Given the description of an element on the screen output the (x, y) to click on. 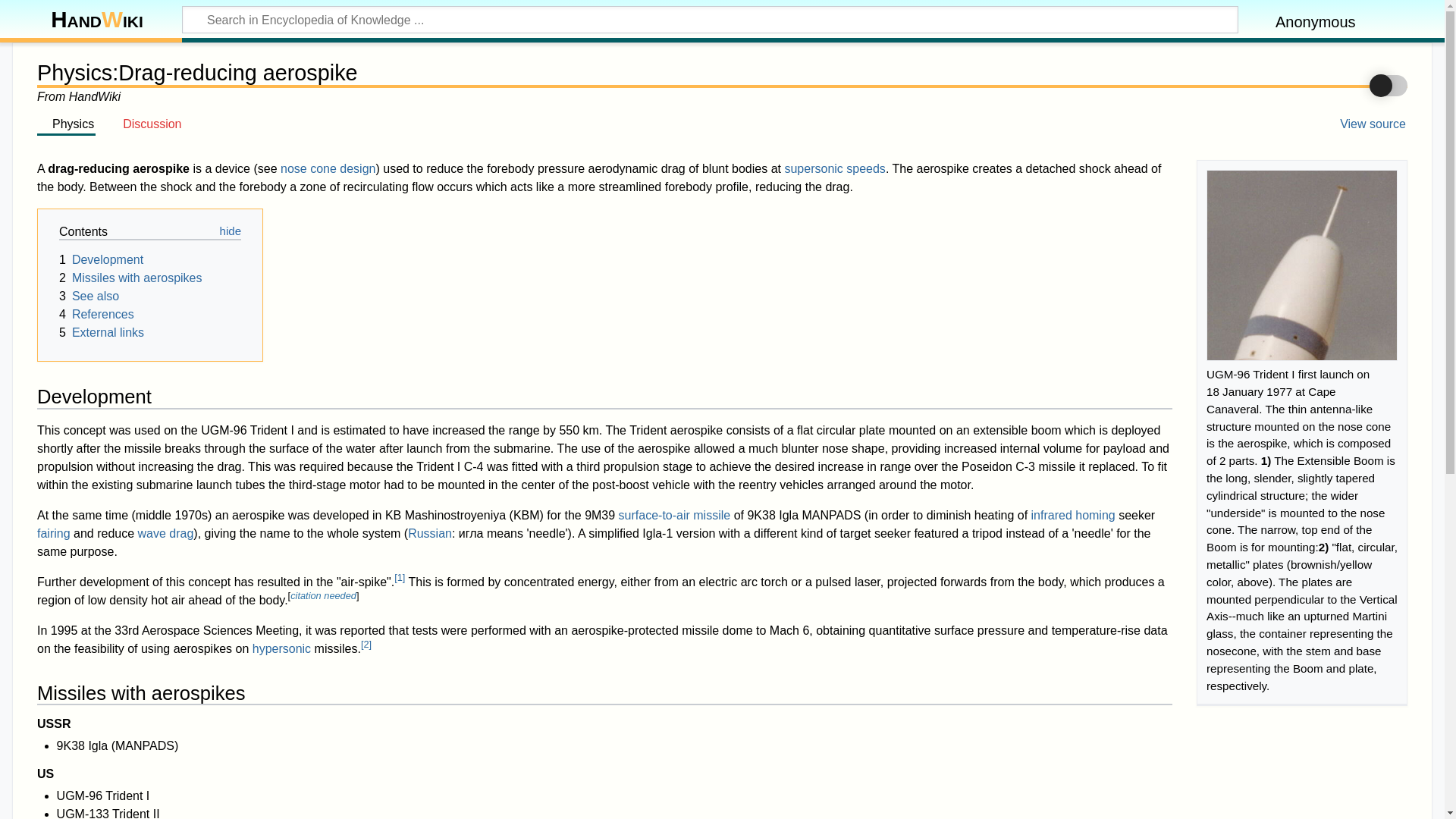
4 References (96, 314)
supersonic speeds (834, 168)
hypersonic (281, 648)
Search (1204, 21)
1 Development (100, 259)
Engineering:Surface-to-air missile (674, 514)
Supersonic speed (834, 168)
wave drag (165, 533)
Search the pages for this text (1204, 21)
surface-to-air missile (674, 514)
Search (1204, 21)
Russian (429, 533)
5 External links (101, 332)
2 Missiles with aerospikes (130, 277)
nose cone design (328, 168)
